Given the description of an element on the screen output the (x, y) to click on. 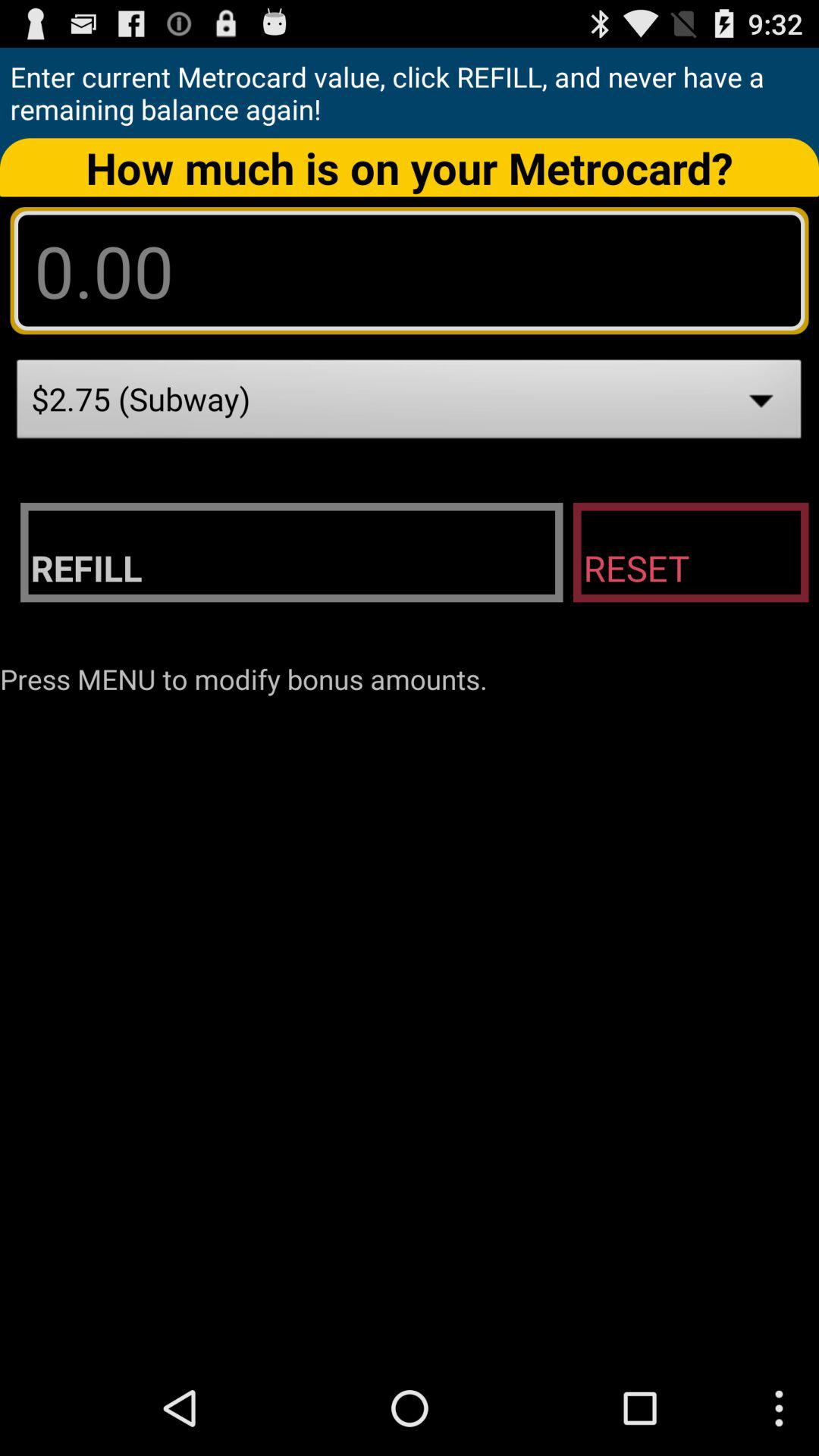
enter amount onto your metrocard (409, 270)
